Given the description of an element on the screen output the (x, y) to click on. 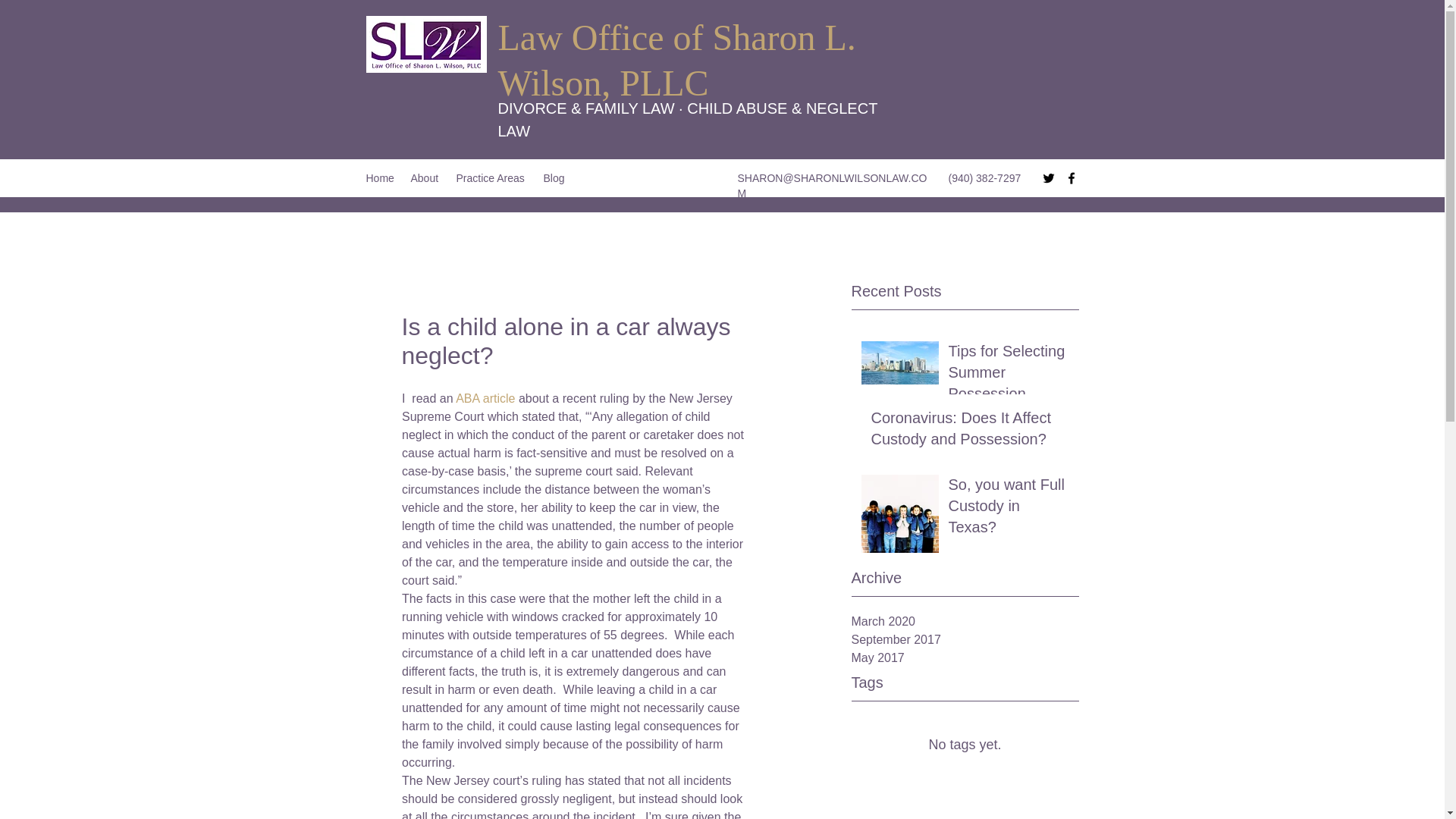
ABA article (485, 398)
Coronavirus: Does It Affect Custody and Possession? (969, 431)
May 2017 (964, 658)
Blog (553, 178)
Home (380, 178)
March 2020 (964, 621)
Practice Areas (491, 178)
Tips for Selecting Summer Possession (1007, 375)
So, you want Full Custody in Texas? (1007, 508)
September 2017 (964, 639)
